Given the description of an element on the screen output the (x, y) to click on. 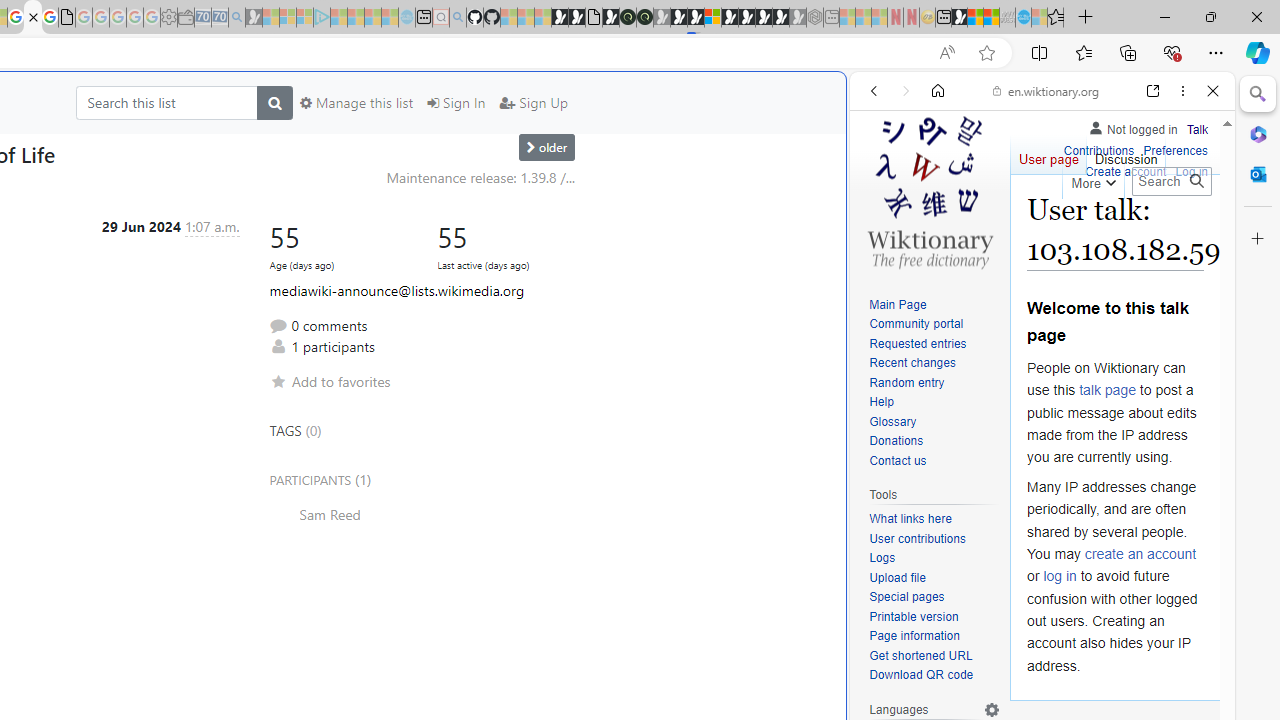
Create account (1125, 172)
Discussion (1125, 154)
Visit the main page (929, 190)
Get shortened URL (934, 655)
Log in (1191, 172)
Printable version (934, 616)
